Given the description of an element on the screen output the (x, y) to click on. 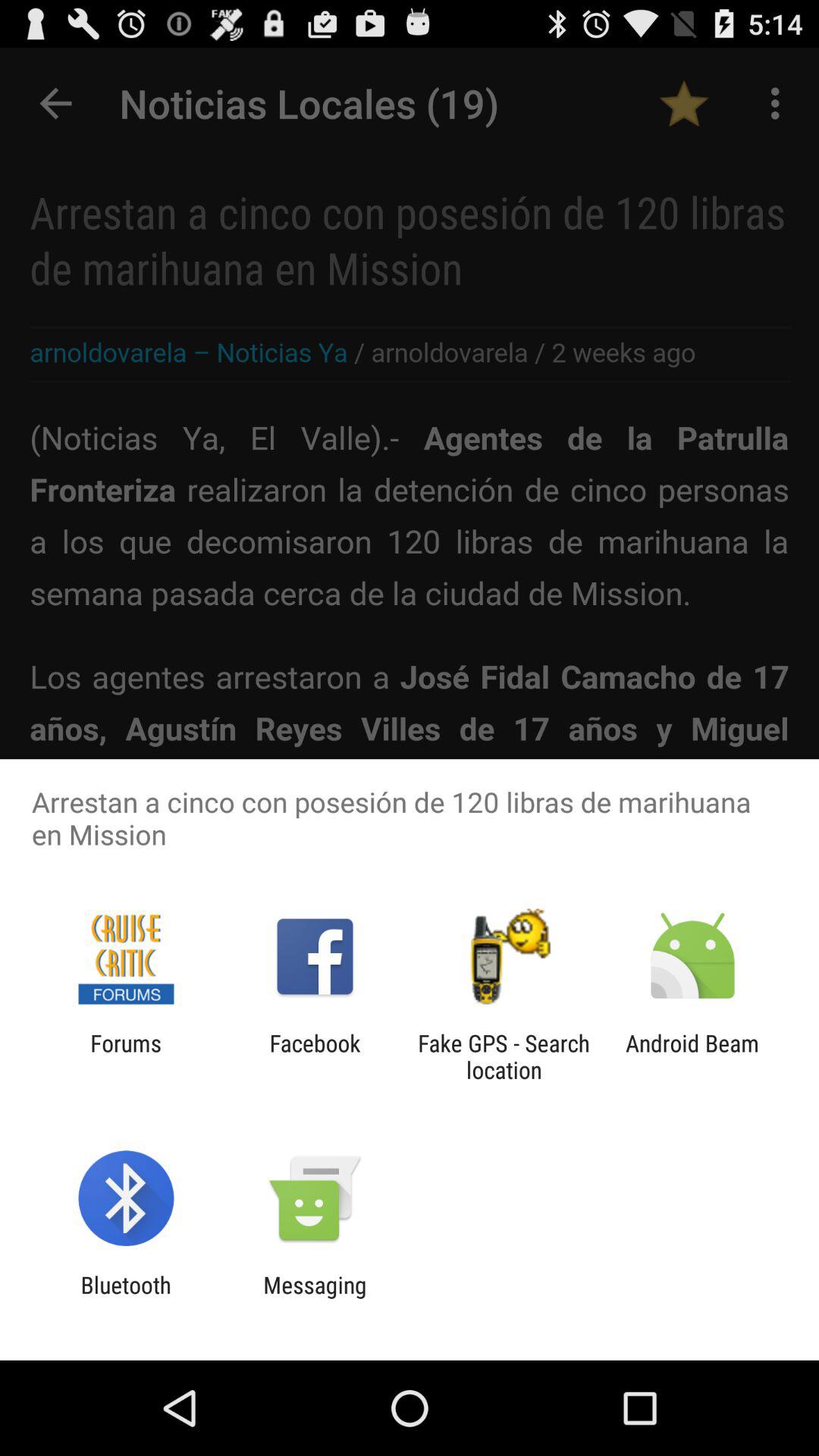
press the app next to the fake gps search icon (314, 1056)
